Given the description of an element on the screen output the (x, y) to click on. 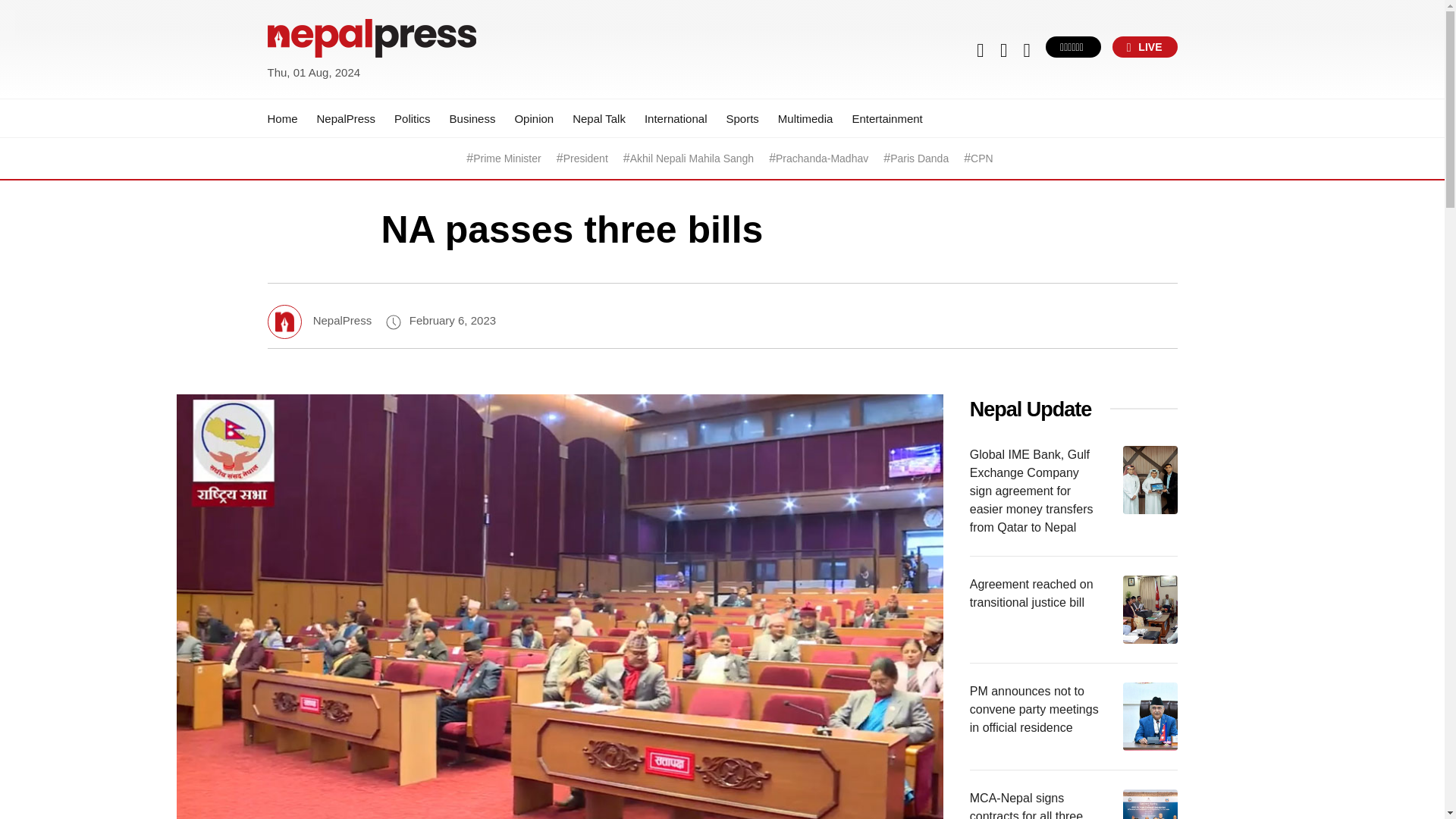
CPN (981, 158)
Akhil Nepali Mahila Sangh (692, 158)
Paris Danda (919, 158)
Politics (412, 118)
Business (472, 118)
President (585, 158)
NepalPress (346, 118)
Multimedia (804, 118)
Prachanda-Madhav (821, 158)
LIVE (1144, 46)
Nepal Press (303, 91)
Akhil Nepali Mahila Sangh (692, 158)
Nepal Talk (599, 118)
Entertainment (886, 118)
President (585, 158)
